Given the description of an element on the screen output the (x, y) to click on. 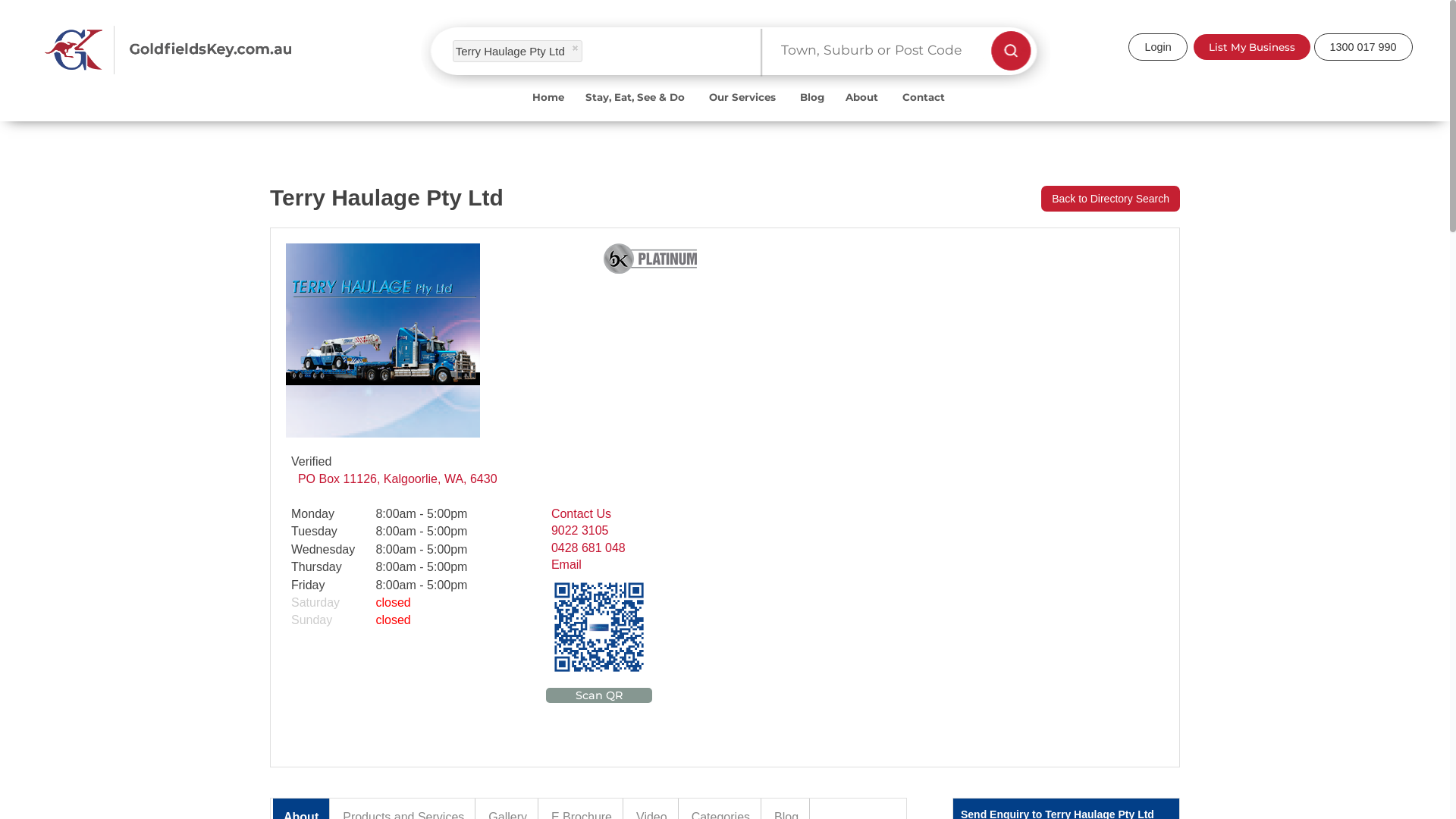
Login Element type: text (1157, 46)
9022 3105 Element type: text (620, 530)
Our Services Element type: text (743, 107)
Contact Us Element type: text (620, 513)
  PO Box 11126, Kalgoorlie, WA, 6430 Element type: text (491, 478)
Live Local, Enjoy Local, Buy Local Element type: hover (220, 49)
0428 681 048 Element type: text (620, 547)
Email Element type: text (620, 564)
view full image Element type: hover (382, 432)
Contact Element type: text (923, 107)
Back to Directory Search Element type: text (1110, 198)
1300 017 990 Element type: text (1363, 46)
Scan QR Element type: text (599, 691)
Home Element type: text (547, 107)
Blog Element type: text (811, 107)
About Element type: text (862, 107)
List My Business Element type: text (1251, 46)
Verified Element type: hover (288, 461)
Stay, Eat, See & Do Element type: text (636, 107)
